Given the description of an element on the screen output the (x, y) to click on. 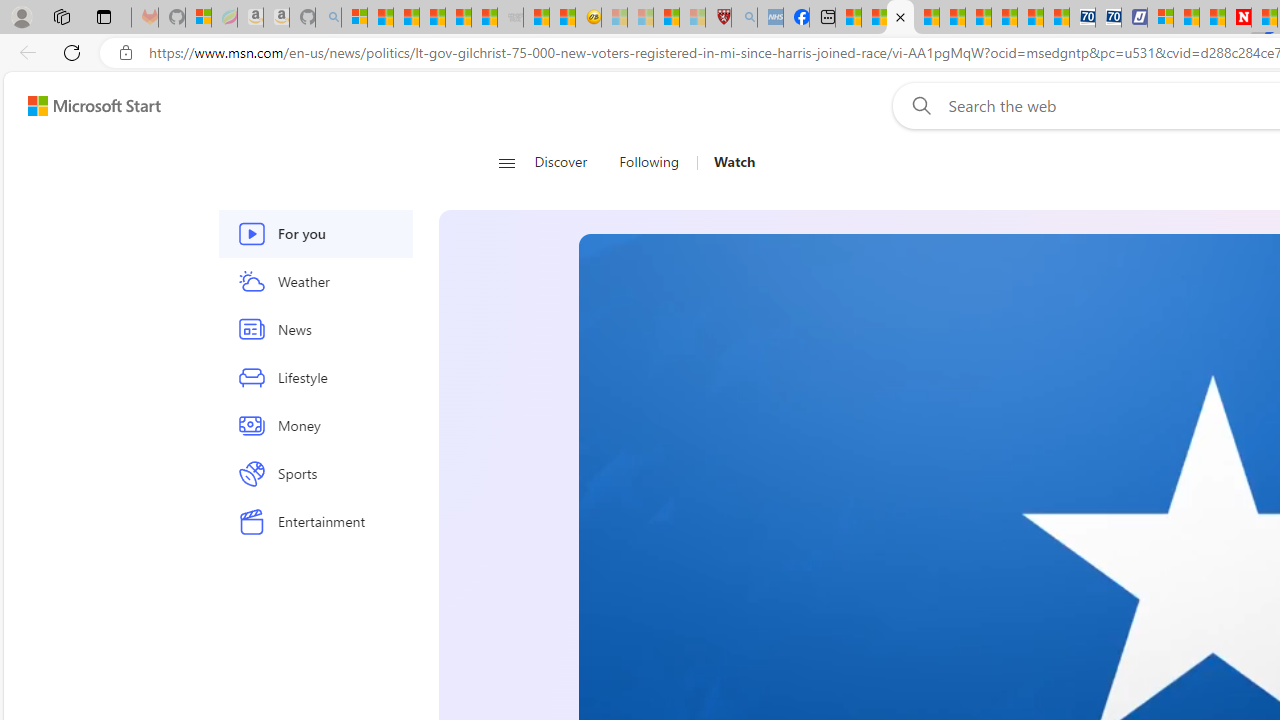
12 Popular Science Lies that Must be Corrected - Sleeping (692, 17)
